Given the description of an element on the screen output the (x, y) to click on. 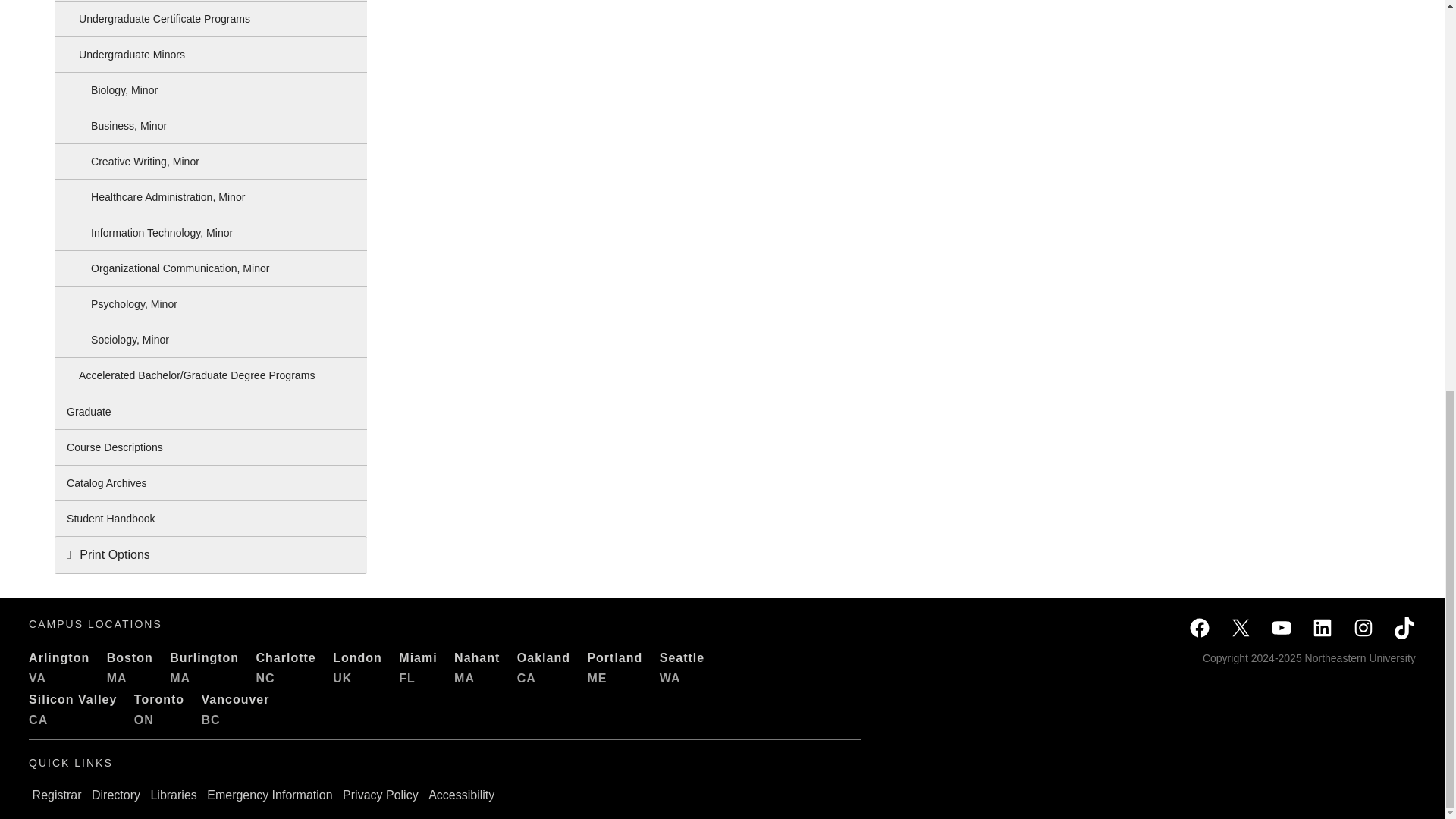
Undergraduate Certificate Programs (210, 18)
Biology, Minor (210, 89)
Course Descriptions (210, 447)
Catalog Archives (210, 483)
Sociology, Minor (210, 339)
Creative Writing, Minor (210, 161)
Psychology, Minor (210, 303)
Graduate (210, 411)
Undergraduate Minors (210, 54)
